Given the description of an element on the screen output the (x, y) to click on. 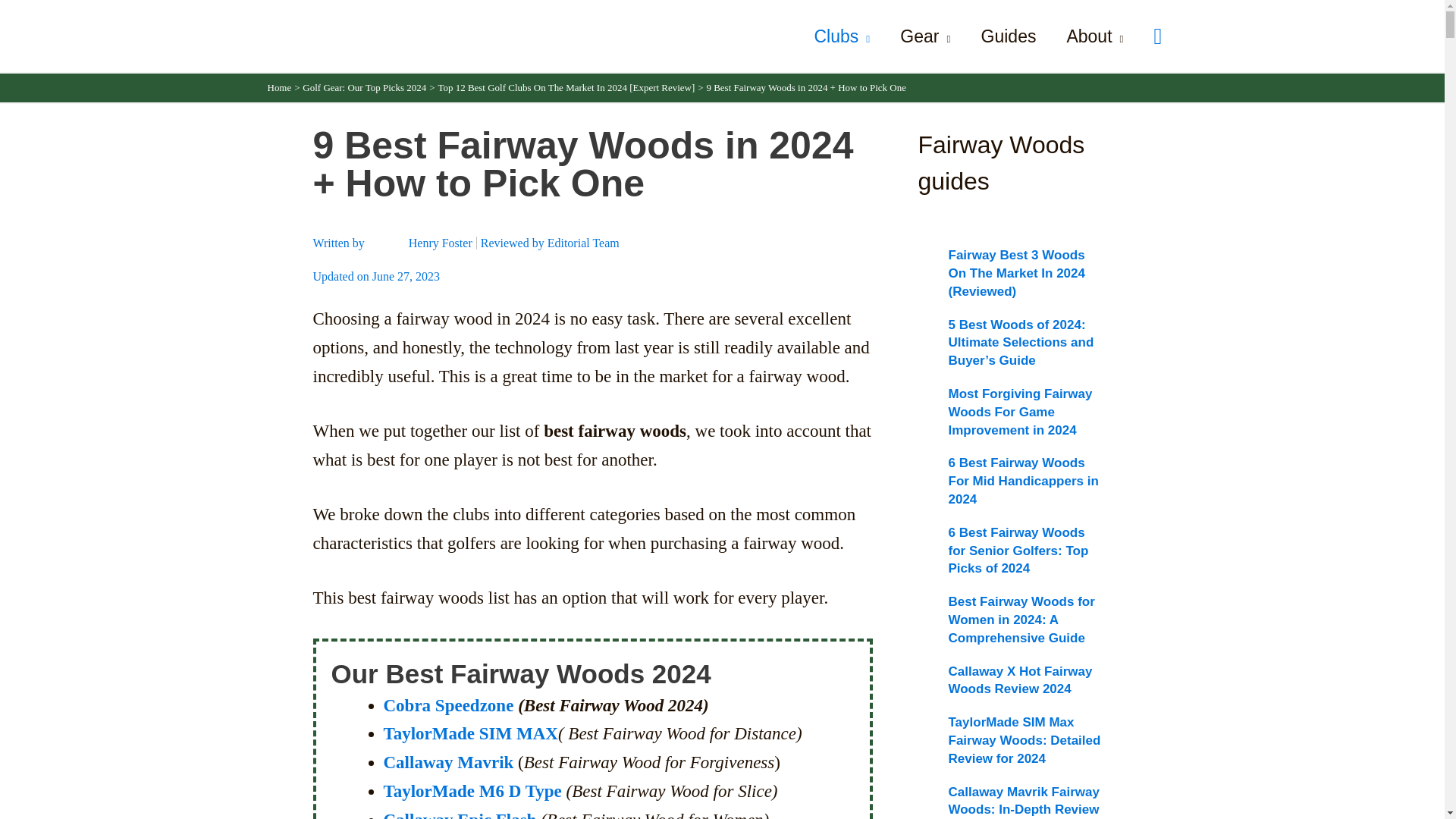
Gear (925, 36)
Cobra Speedzone (448, 705)
Callaway Epic Flash (460, 814)
About (1094, 36)
Clubs (842, 36)
Guides (1008, 36)
Henry Foster (442, 242)
Golf Gear: Our Top Picks 2024 (364, 87)
TaylorMade SIM MAX (470, 732)
Callaway Mavrik (448, 762)
Home (278, 87)
Editorial Team (583, 242)
TaylorMade M6 D Type (473, 791)
